Given the description of an element on the screen output the (x, y) to click on. 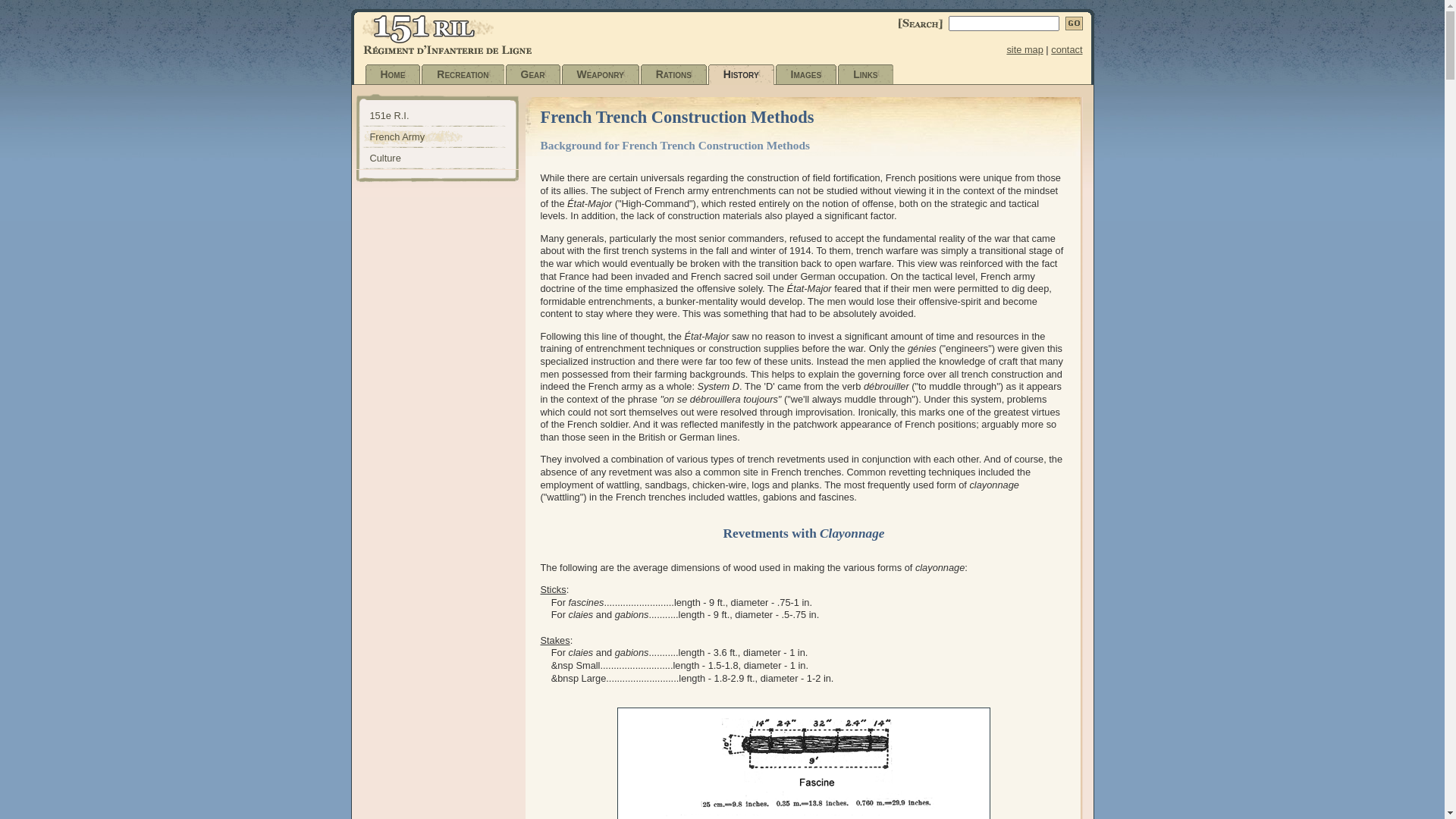
Culture Element type: text (444, 158)
site map Element type: text (1024, 49)
Rations Element type: text (674, 74)
Links Element type: text (866, 74)
History Element type: text (742, 74)
French Army Element type: text (444, 136)
Weaponry Element type: text (601, 74)
Images Element type: text (807, 74)
Recreation Element type: text (463, 74)
Gear Element type: text (534, 74)
Home Element type: text (394, 74)
contact Element type: text (1066, 49)
151e R.I. Element type: text (444, 115)
